Given the description of an element on the screen output the (x, y) to click on. 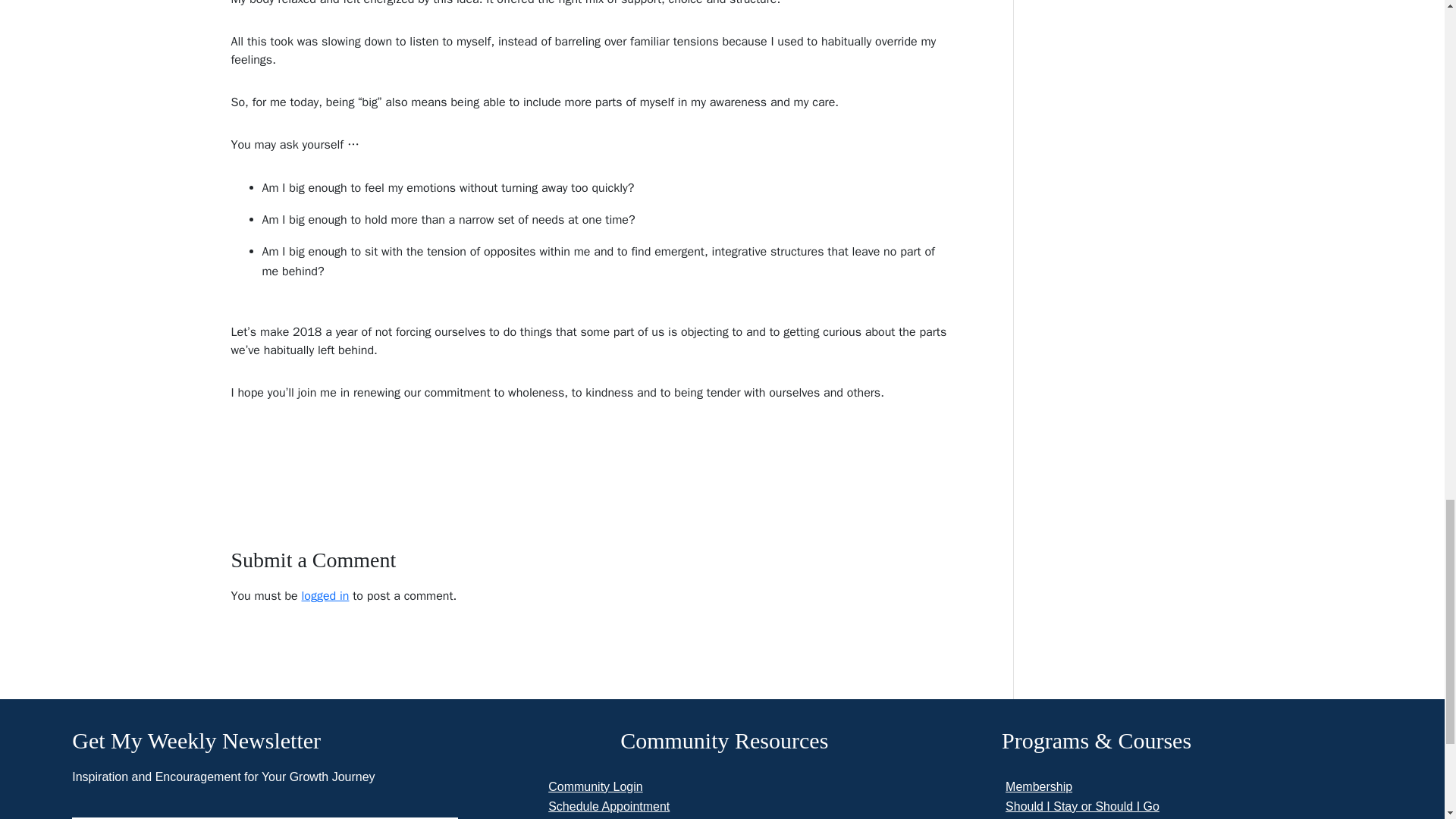
Schedule Appointment (608, 806)
logged in (325, 595)
Community Login (595, 786)
